Given the description of an element on the screen output the (x, y) to click on. 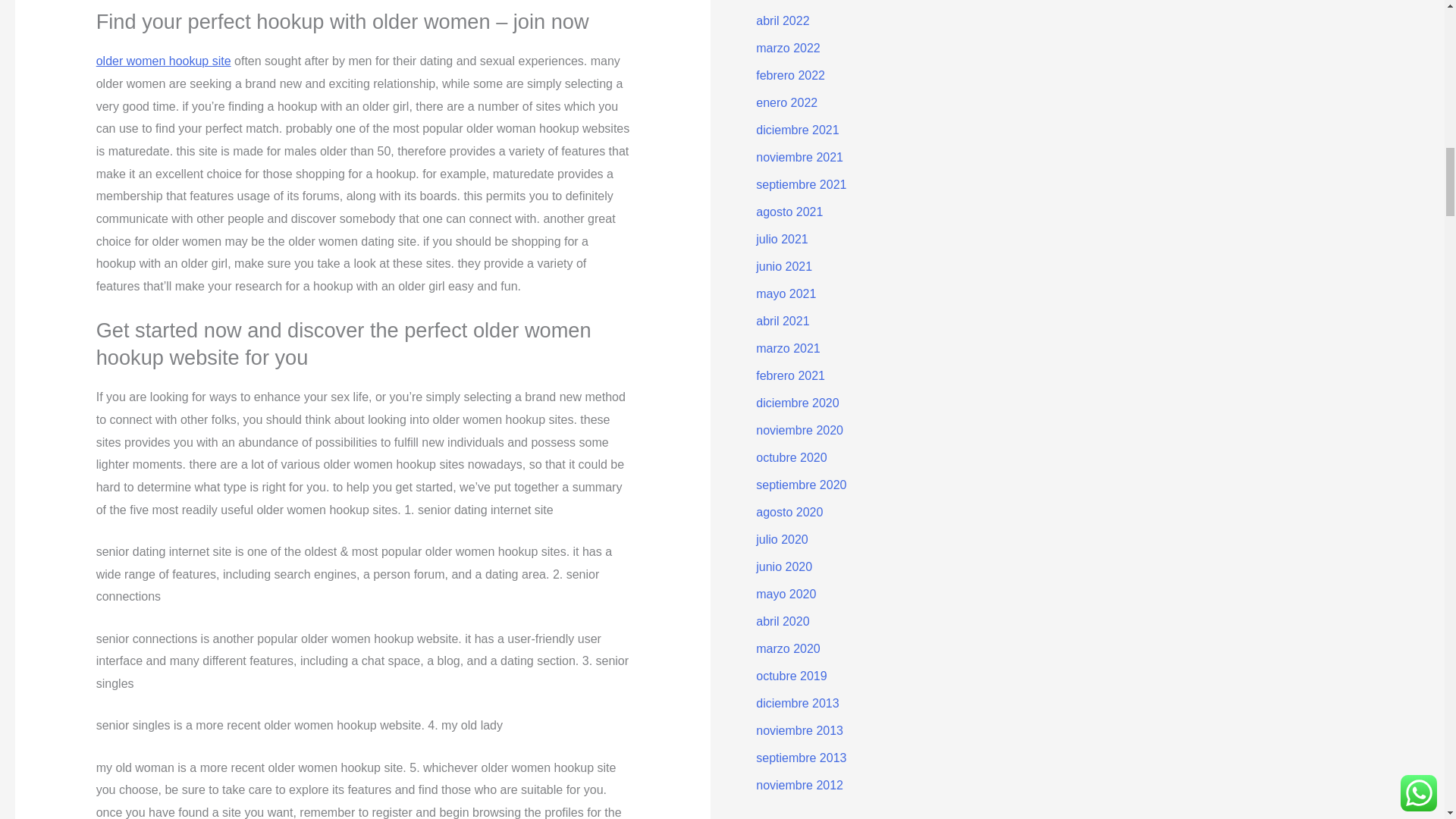
older women hookup site (163, 60)
